Given the description of an element on the screen output the (x, y) to click on. 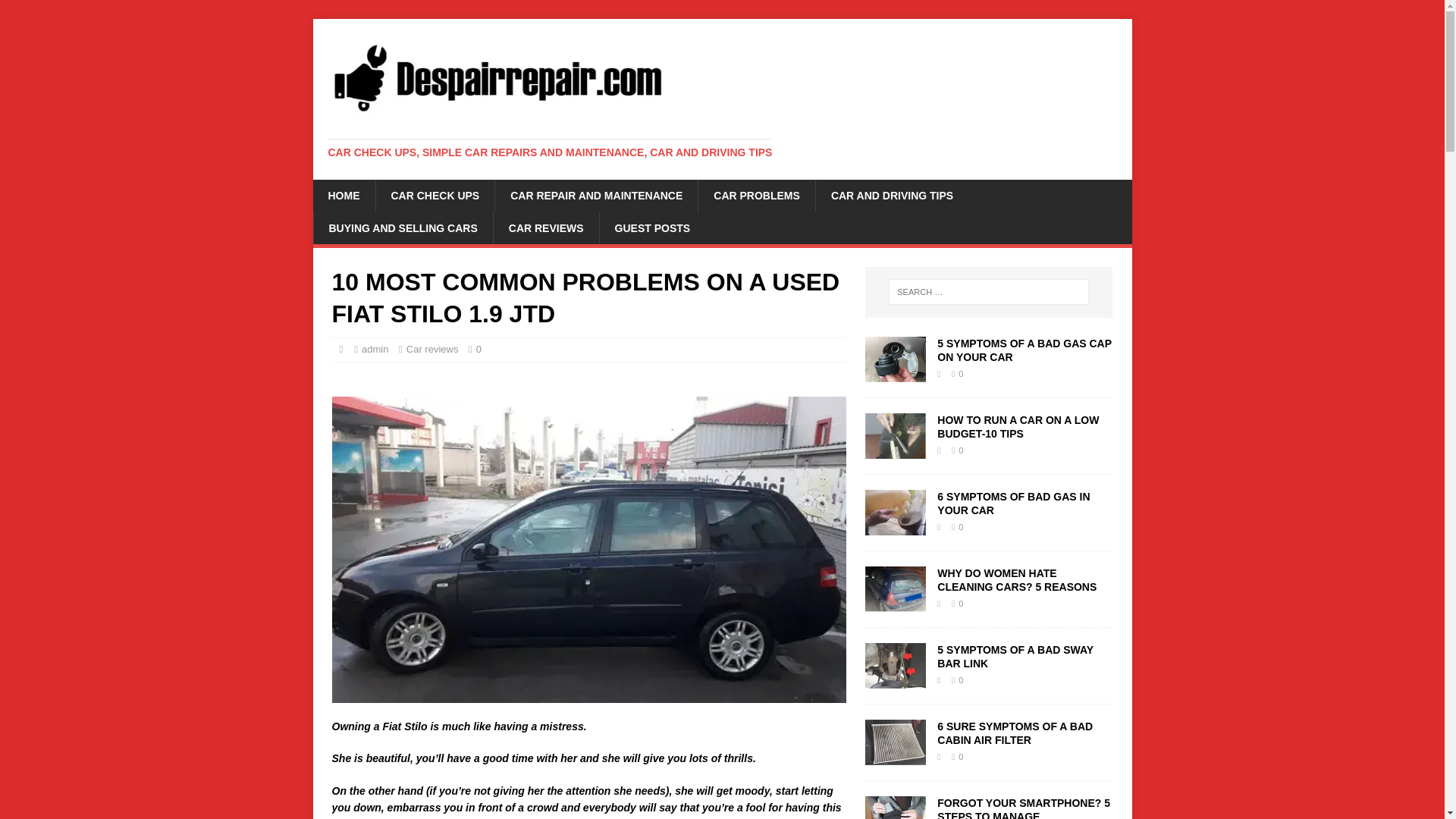
HOW TO RUN A CAR ON A LOW BUDGET-10 TIPS (1018, 426)
WHY DO WOMEN HATE CLEANING CARS? 5 REASONS (895, 603)
6 SURE SYMPTOMS OF A BAD CABIN AIR FILTER (1015, 733)
BUYING AND SELLING CARS (402, 228)
5 SYMPTOMS OF A BAD SWAY BAR LINK (895, 679)
6 SYMPTOMS OF BAD GAS IN YOUR CAR (895, 526)
Search (56, 11)
GUEST POSTS (652, 228)
HOME (343, 195)
admin (374, 348)
6 SYMPTOMS OF BAD GAS IN YOUR CAR (1013, 503)
CAR AND DRIVING TIPS (891, 195)
5 SYMPTOMS OF A BAD GAS CAP ON YOUR CAR (1023, 350)
5 SYMPTOMS OF A BAD GAS CAP ON YOUR CAR (895, 372)
